Given the description of an element on the screen output the (x, y) to click on. 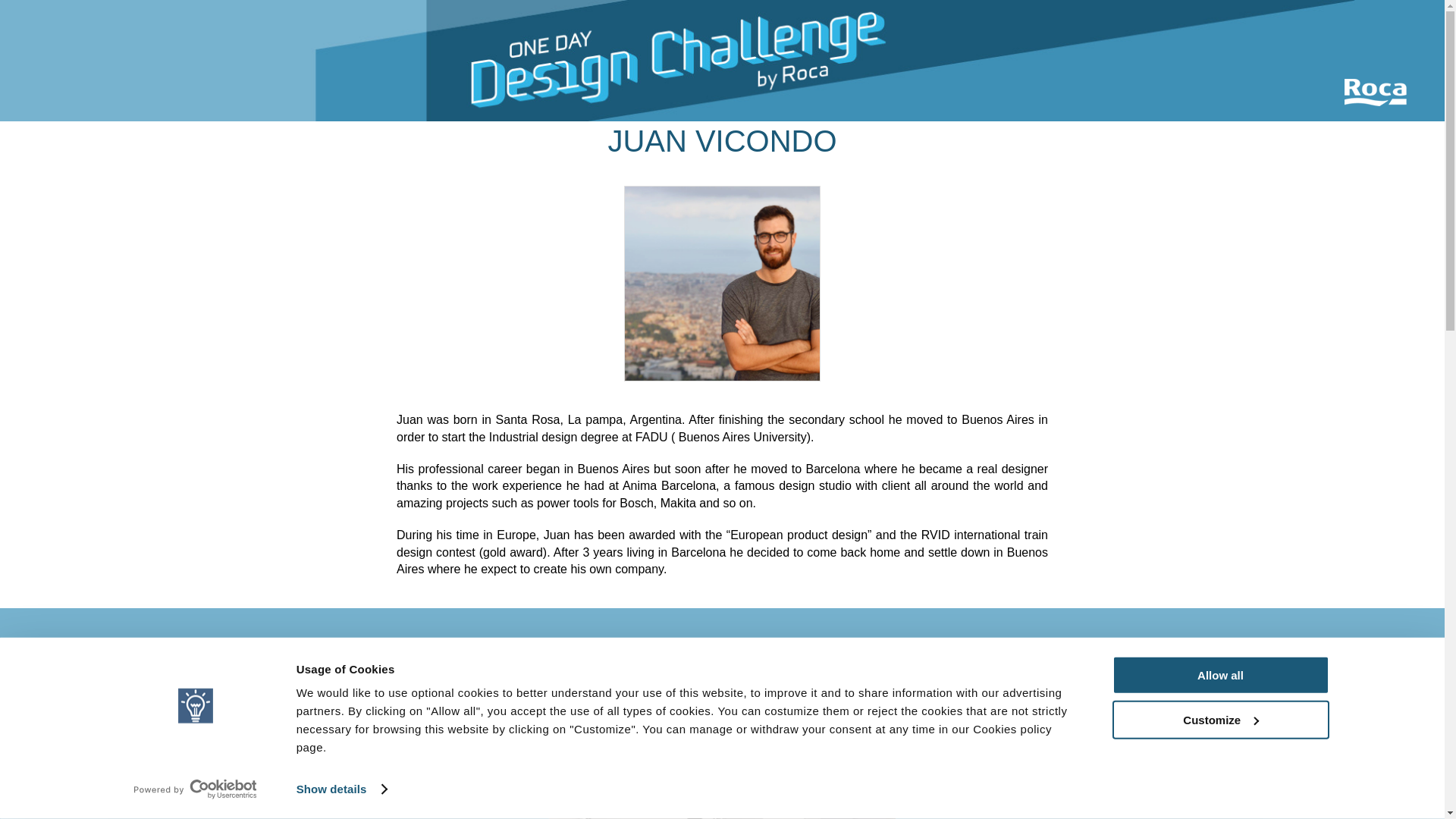
Show details (341, 789)
